Given the description of an element on the screen output the (x, y) to click on. 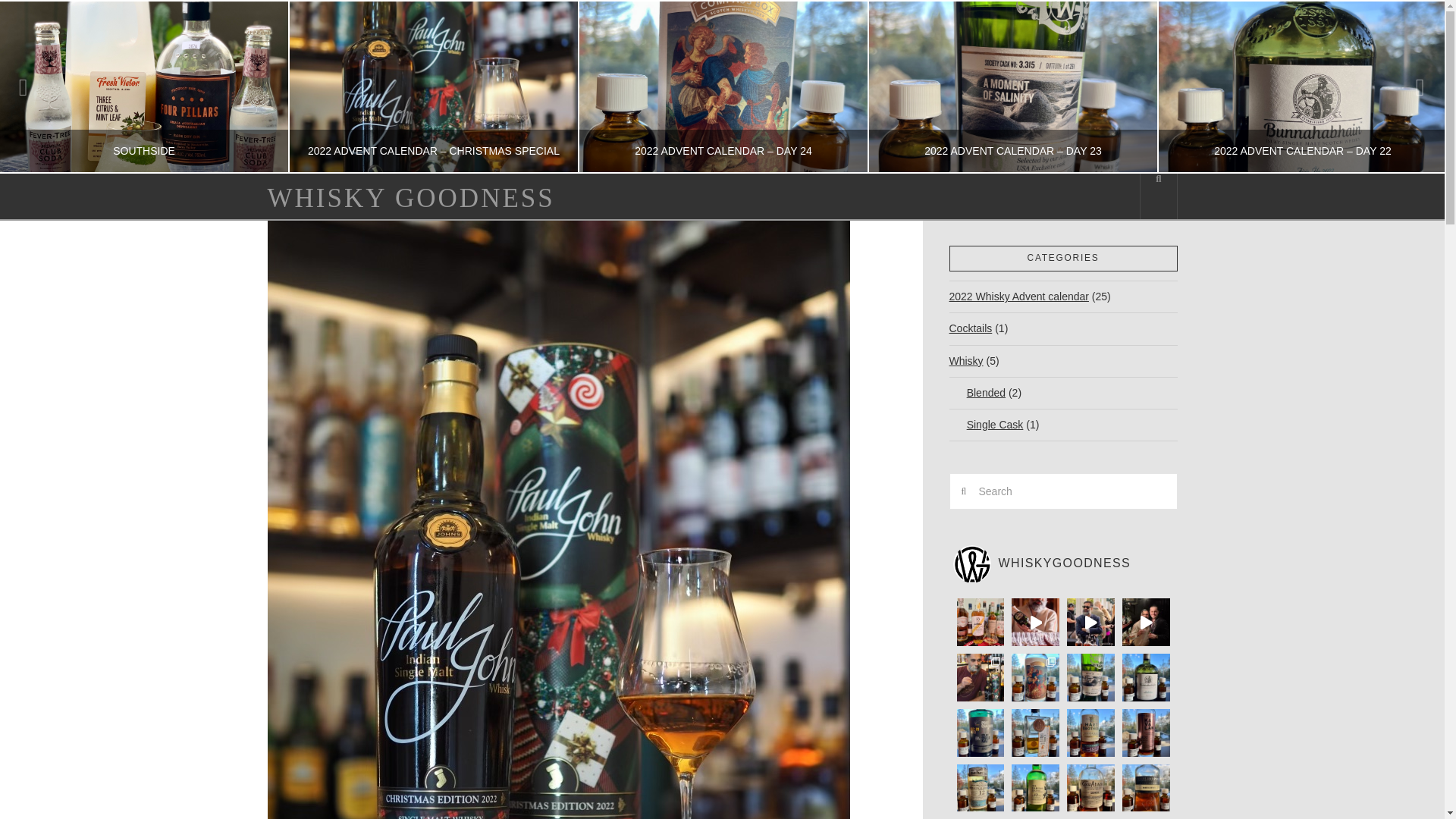
Previous (31, 86)
Cocktails (970, 327)
SOUTHSIDE (144, 86)
WHISKY GOODNESS (410, 198)
WHISKYGOODNESS (1060, 564)
Whisky (966, 360)
2022 Whisky Advent calendar (1019, 296)
Blended (977, 392)
Single Cask (986, 424)
